Given the description of an element on the screen output the (x, y) to click on. 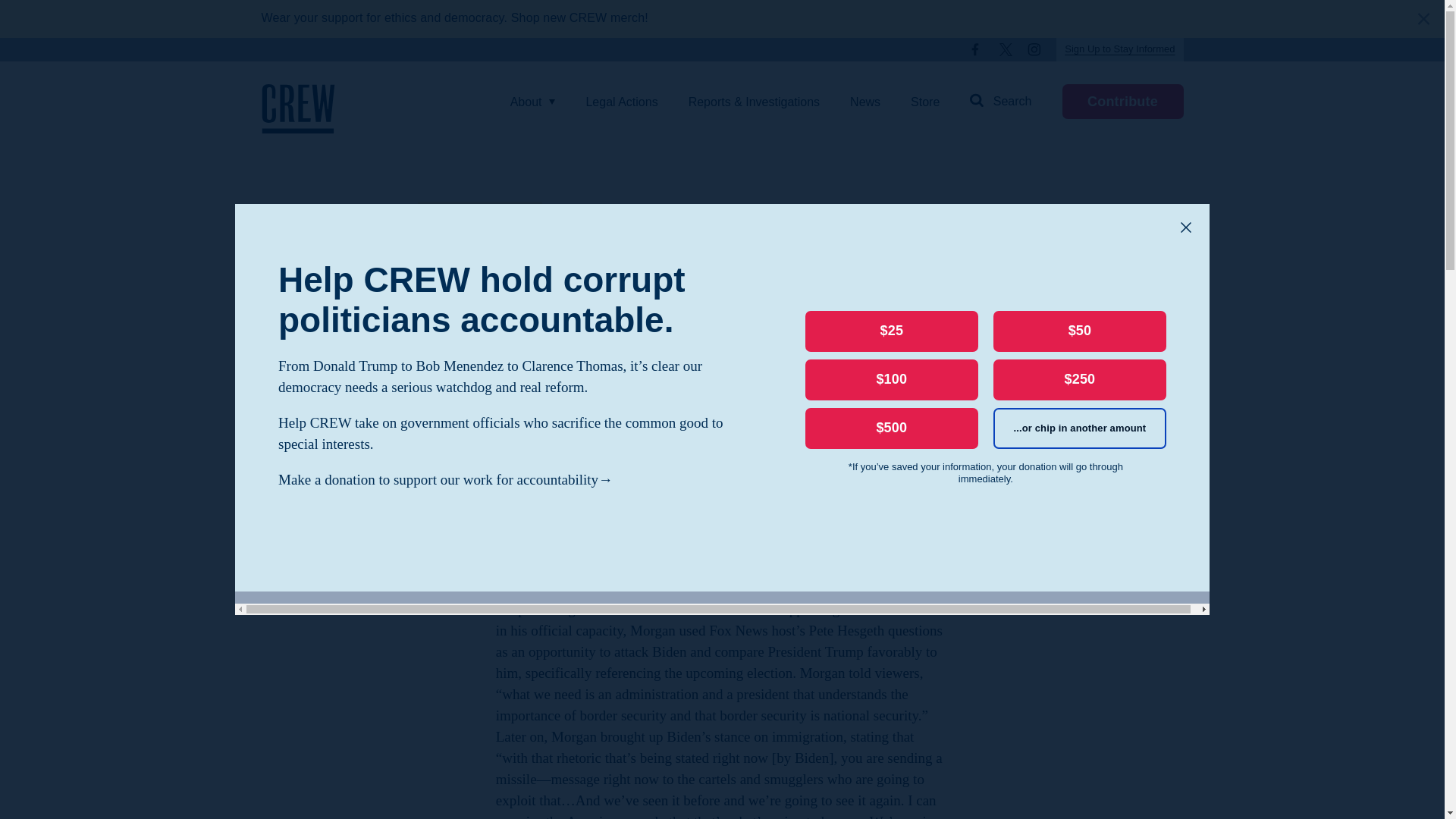
About (1121, 101)
Link to instagram (526, 63)
Search (1034, 49)
Sign Up to Stay Informed (1000, 101)
News (1119, 49)
Link to twitter (865, 101)
Link to facebook (1004, 49)
Legal Actions (977, 49)
